Given the description of an element on the screen output the (x, y) to click on. 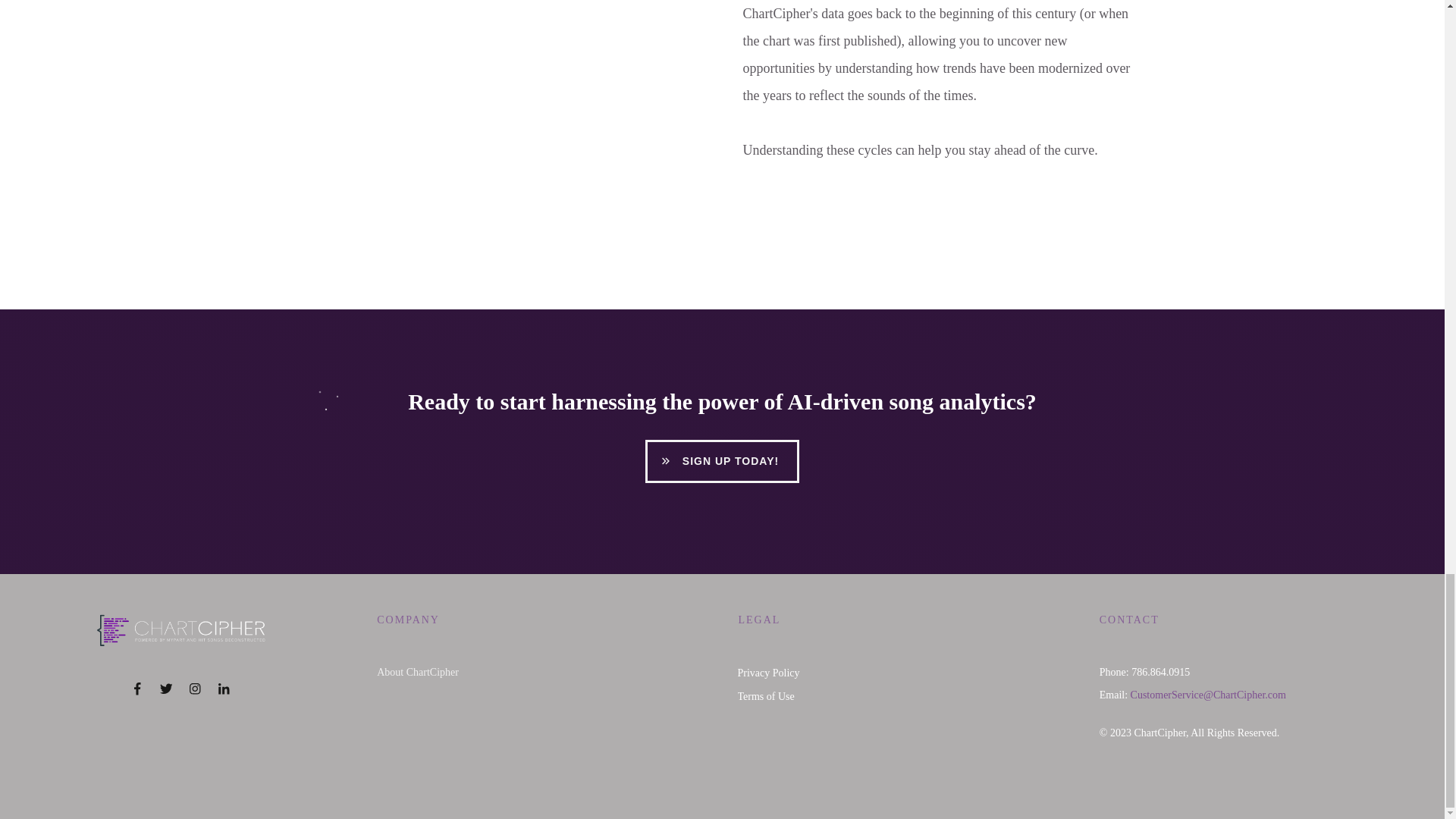
Privacy Policy (767, 673)
Search Rhyme Density-2 (507, 140)
SIGN UP TODAY! (722, 461)
About ChartCipher (417, 672)
Terms of Use (764, 696)
